Given the description of an element on the screen output the (x, y) to click on. 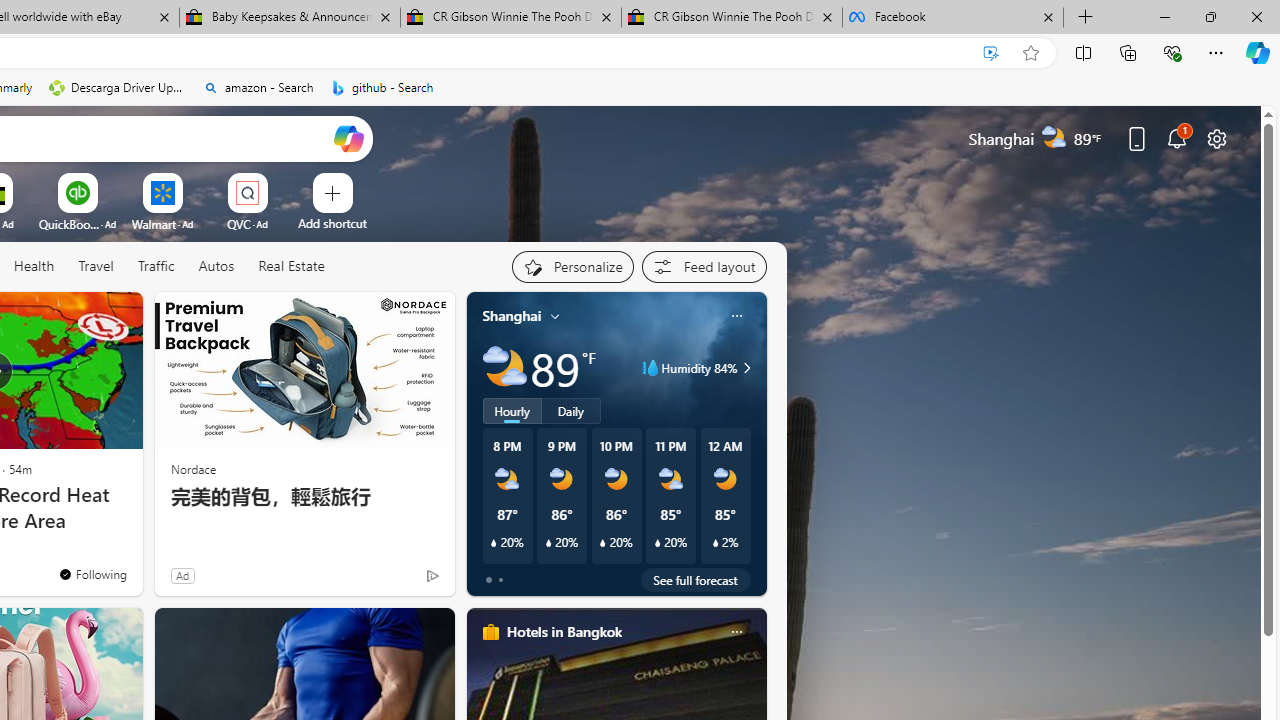
Daily (571, 411)
Shanghai (511, 315)
Partly cloudy (504, 368)
More options (736, 631)
Feed settings (703, 266)
Split screen (1083, 52)
Close (1256, 16)
Class: weather-current-precipitation-glyph (715, 543)
